Given the description of an element on the screen output the (x, y) to click on. 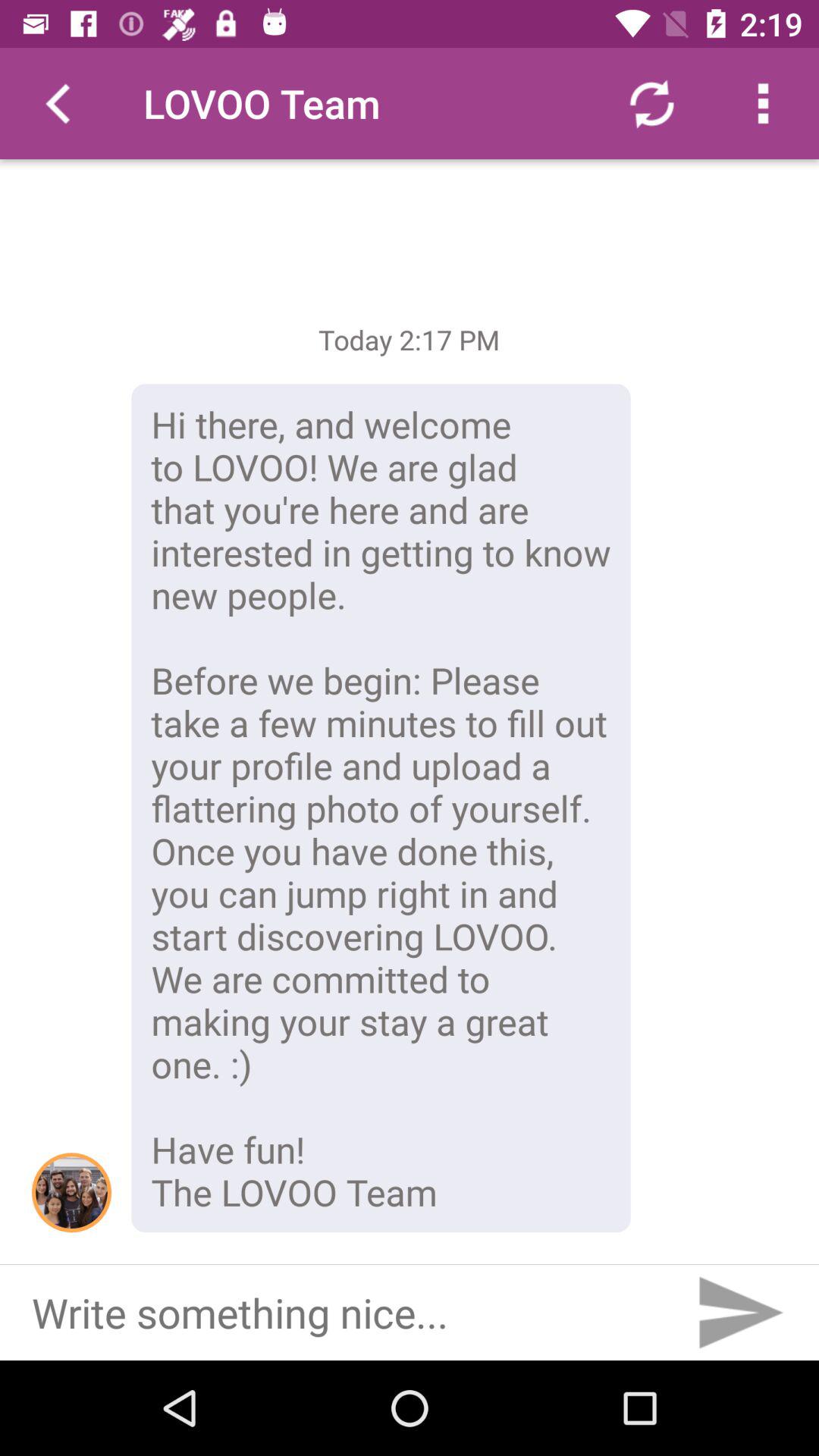
message field (340, 1312)
